Given the description of an element on the screen output the (x, y) to click on. 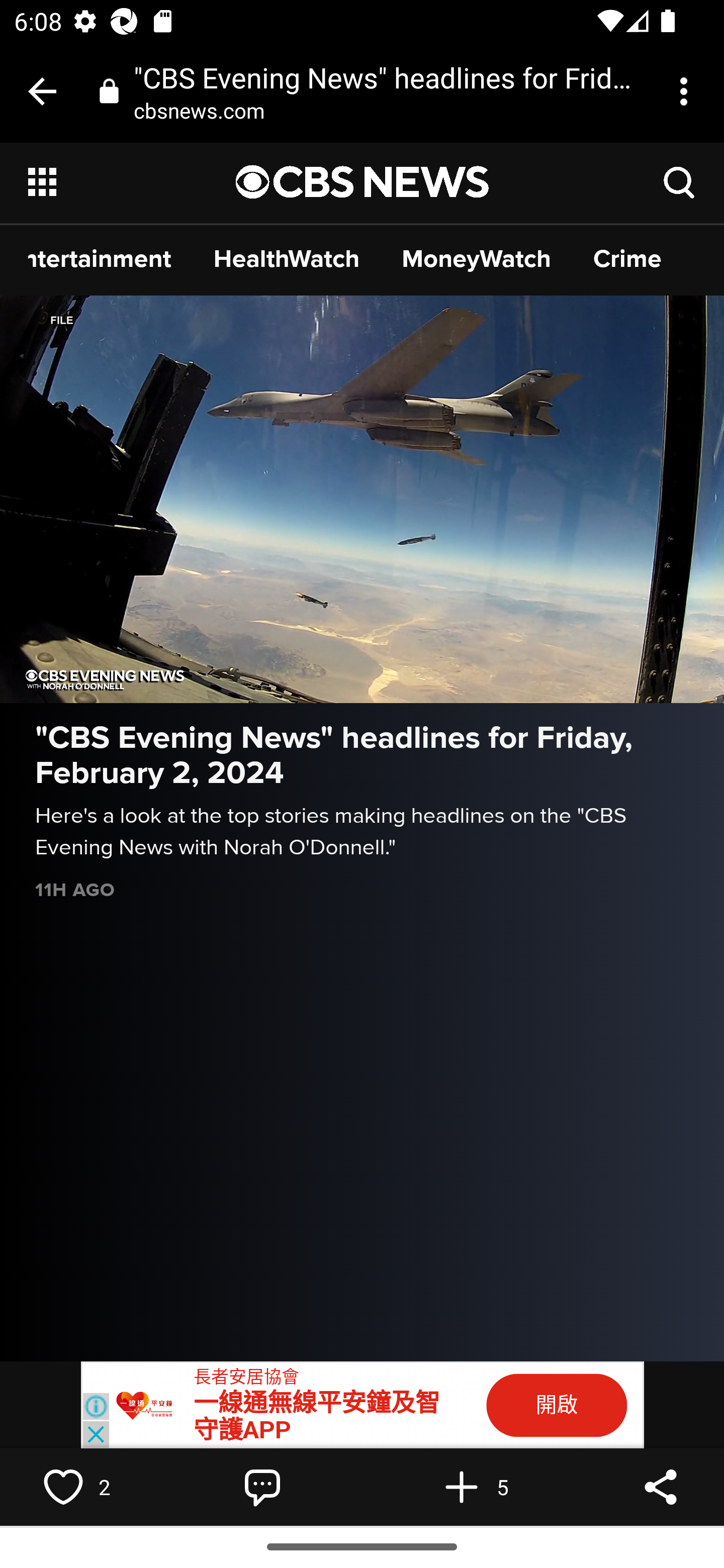
Close tab (42, 91)
More options (687, 91)
Connection is secure (108, 90)
cbsnews.com (205, 109)
search (679, 180)
Go to CBS News National home page (362, 181)
Open the site navigation (132, 181)
Entertainment (100, 258)
HealthWatch (286, 258)
MoneyWatch (476, 258)
Crime (627, 258)
Media Player (362, 499)
長者安居協會 (246, 1376)
開啟 (556, 1404)
一線通無線平安鐘及智 守護APP 一線通無線平安鐘及智 守護APP (317, 1416)
Like (63, 1486)
Write a comment… (262, 1486)
Flip into Magazine (461, 1486)
Share (660, 1486)
